Given the description of an element on the screen output the (x, y) to click on. 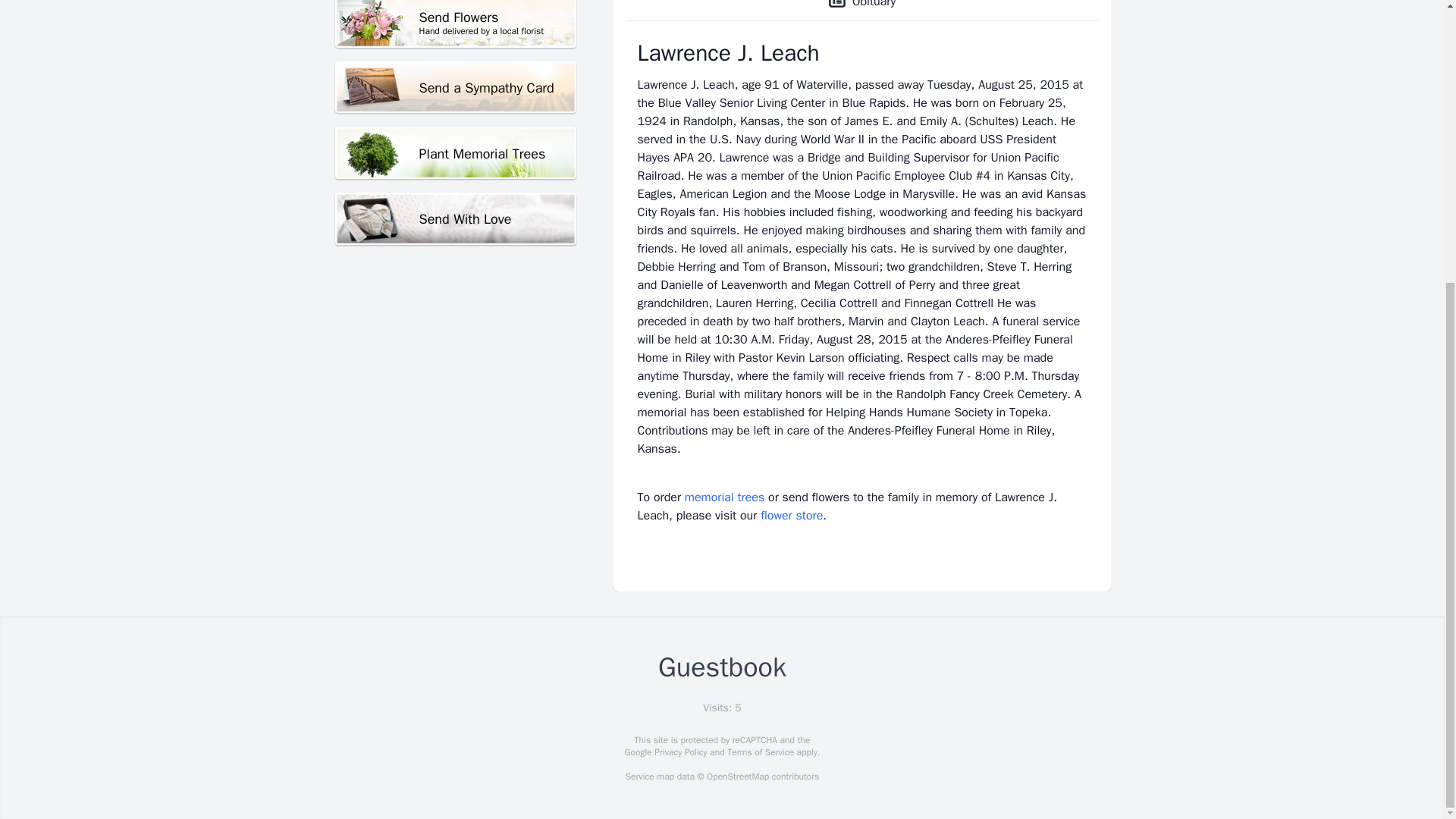
Privacy Policy (679, 752)
Terms of Service (759, 752)
Plant Memorial Trees (454, 153)
OpenStreetMap (737, 776)
Send a Sympathy Card (454, 88)
memorial trees (724, 497)
Obituary (860, 10)
flower store (791, 515)
Send With Love (454, 24)
